Given the description of an element on the screen output the (x, y) to click on. 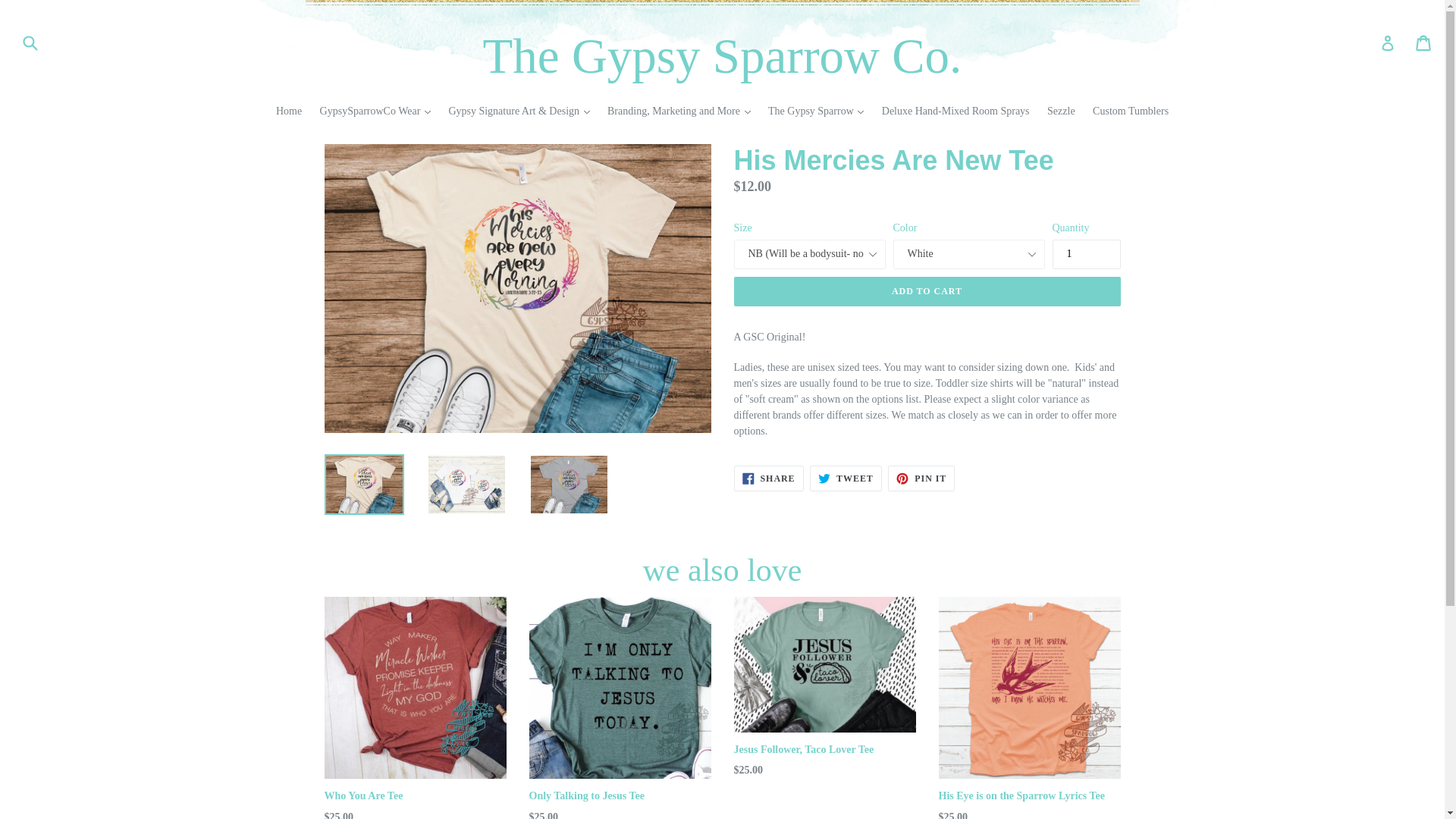
Share on Facebook (768, 478)
1 (1086, 254)
Tweet on Twitter (845, 478)
Pin on Pinterest (921, 478)
